Given the description of an element on the screen output the (x, y) to click on. 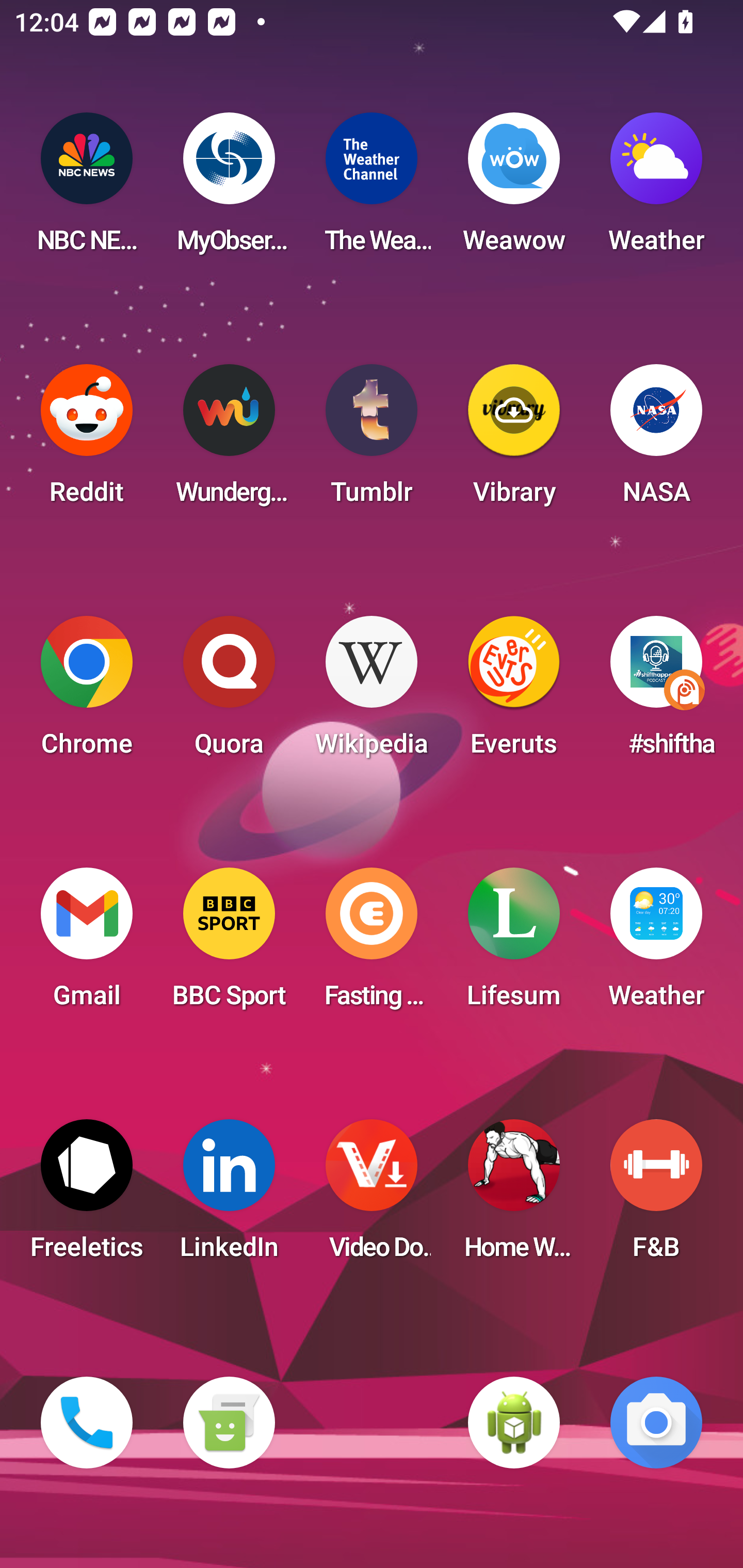
NBC NEWS (86, 188)
MyObservatory (228, 188)
The Weather Channel (371, 188)
Weawow (513, 188)
Weather (656, 188)
Reddit (86, 440)
Wunderground (228, 440)
Tumblr (371, 440)
Vibrary (513, 440)
NASA (656, 440)
Chrome (86, 692)
Quora (228, 692)
Wikipedia (371, 692)
Everuts (513, 692)
#shifthappens in the Digital Workplace Podcast (656, 692)
Gmail (86, 943)
BBC Sport (228, 943)
Fasting Coach (371, 943)
Lifesum (513, 943)
Weather (656, 943)
Freeletics (86, 1195)
LinkedIn (228, 1195)
Video Downloader & Ace Player (371, 1195)
Home Workout (513, 1195)
F&B (656, 1195)
Phone (86, 1422)
Messaging (228, 1422)
WebView Browser Tester (513, 1422)
Camera (656, 1422)
